Given the description of an element on the screen output the (x, y) to click on. 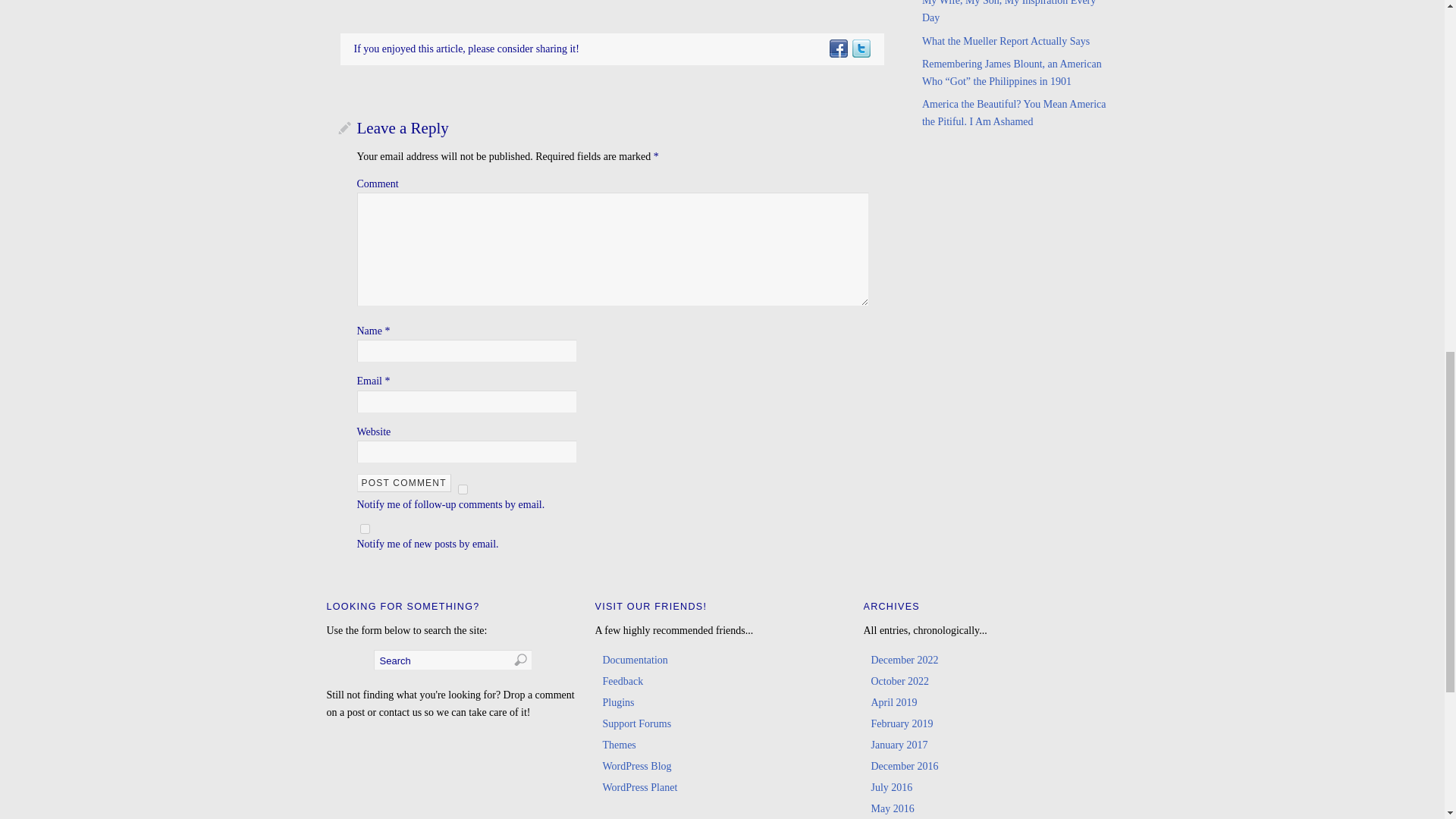
Share on Facebook (837, 48)
Themes (618, 745)
Plugins (617, 702)
Support Forums (636, 723)
Post Comment (402, 483)
Share on Twitter (860, 48)
Search (451, 660)
subscribe (462, 489)
Documentation (634, 659)
Search (451, 660)
